Given the description of an element on the screen output the (x, y) to click on. 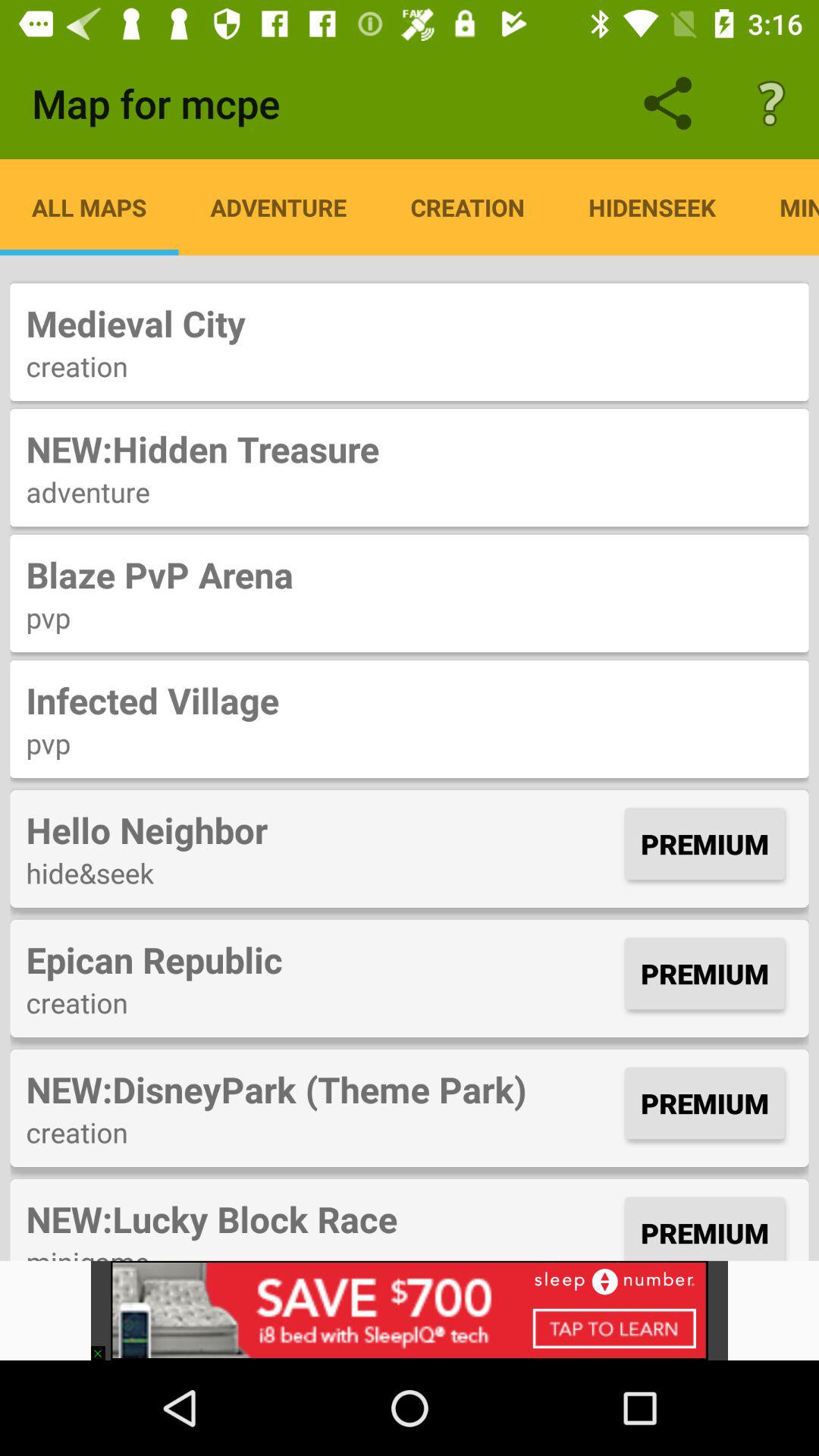
choose blaze pvp arena (409, 574)
